Given the description of an element on the screen output the (x, y) to click on. 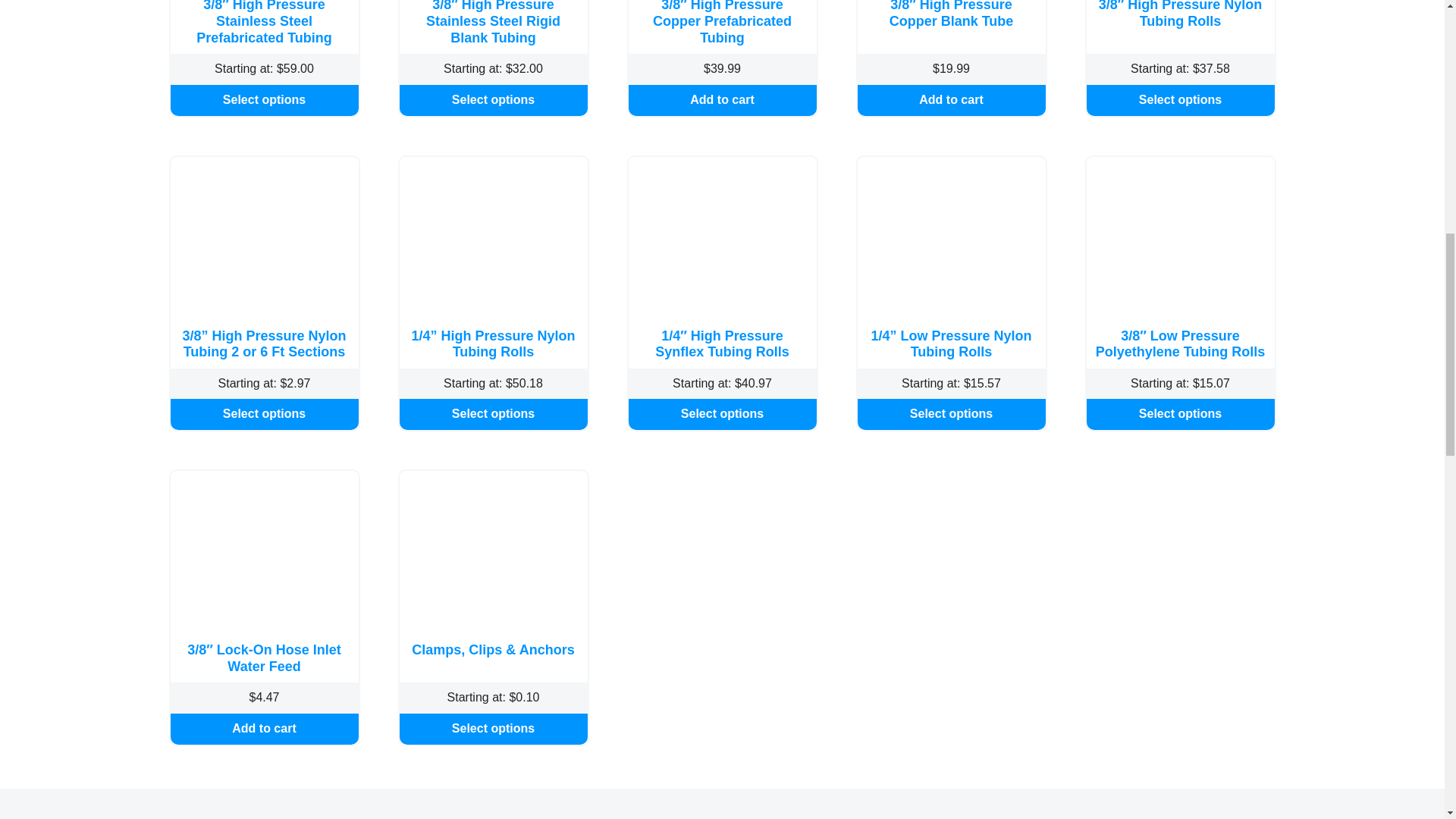
Scroll back to top (1406, 720)
